Given the description of an element on the screen output the (x, y) to click on. 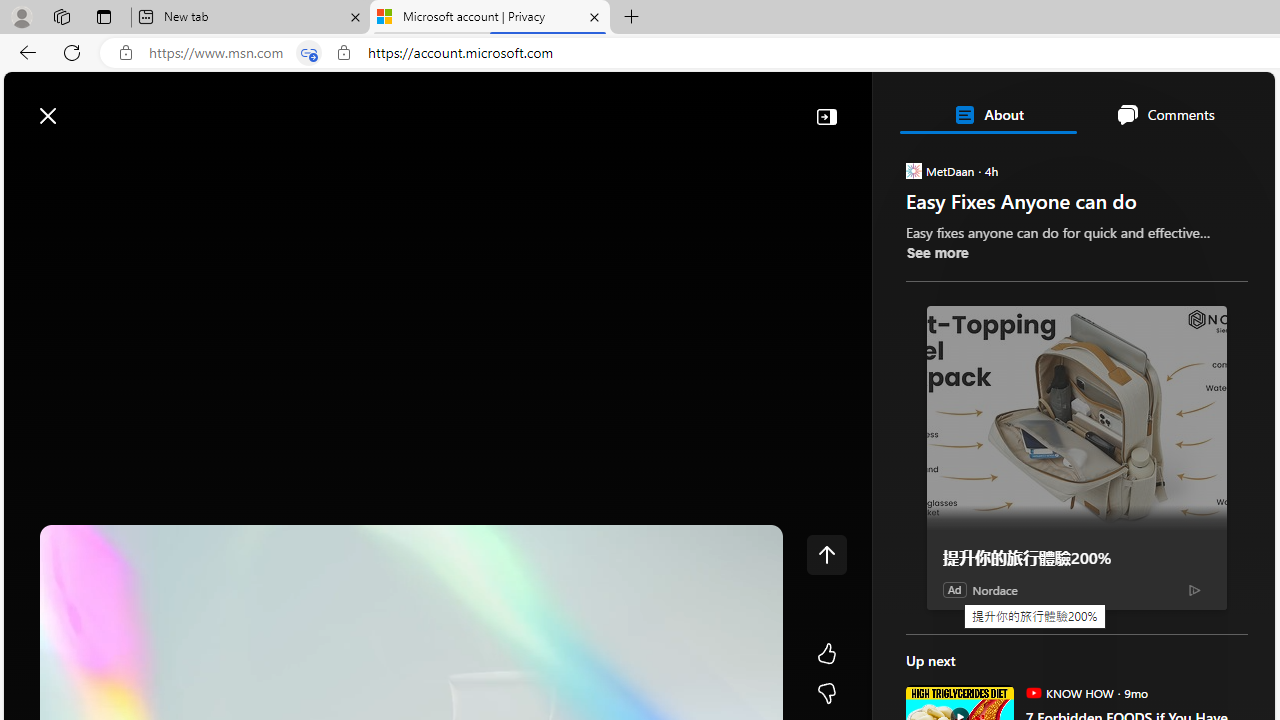
Skip to footer (82, 105)
Tabs in split screen (308, 53)
KNOW HOW (1033, 692)
Enter your search term (644, 106)
KNOW HOW KNOW HOW (1069, 692)
